Given the description of an element on the screen output the (x, y) to click on. 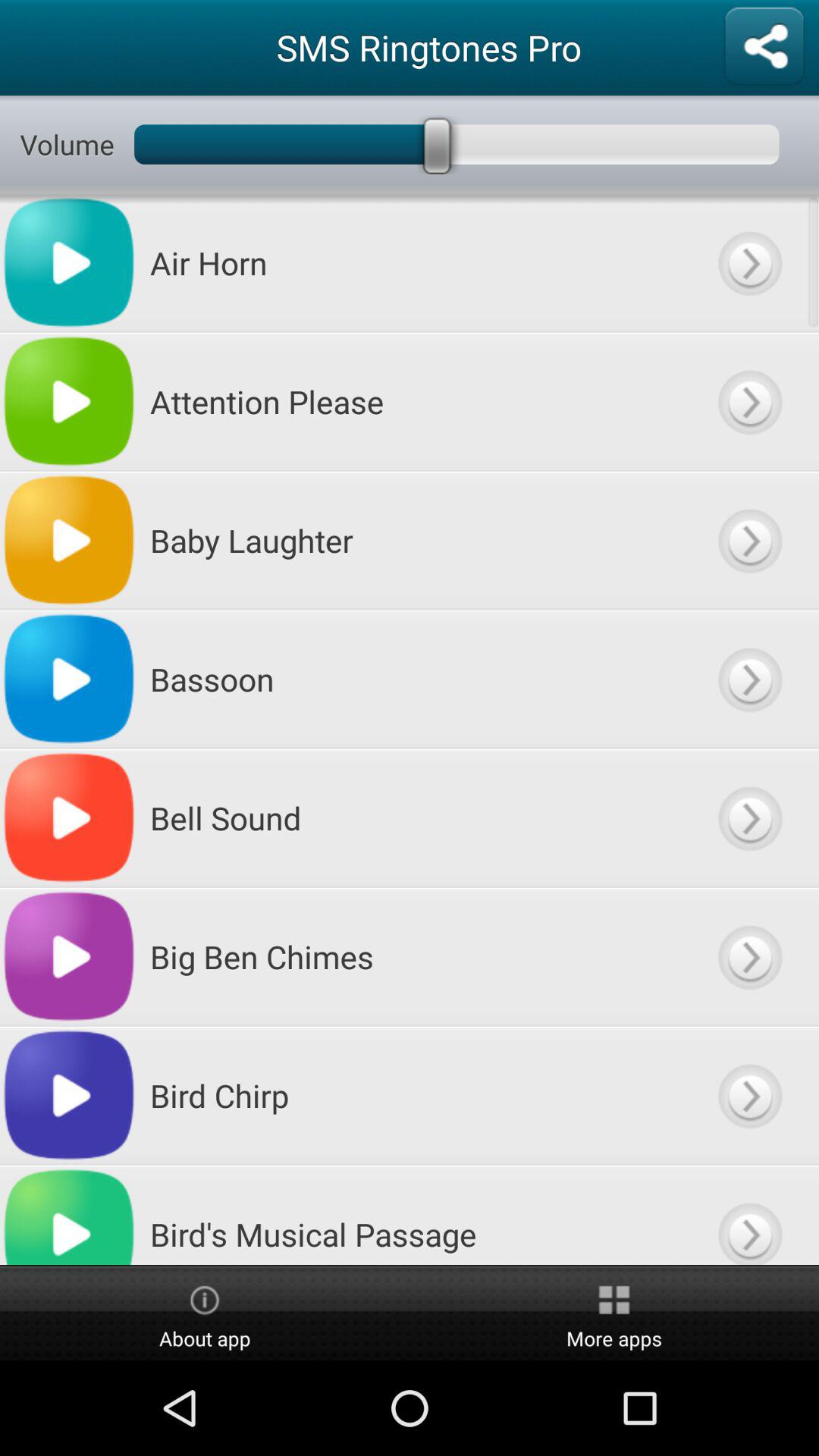
go to next (749, 956)
